Given the description of an element on the screen output the (x, y) to click on. 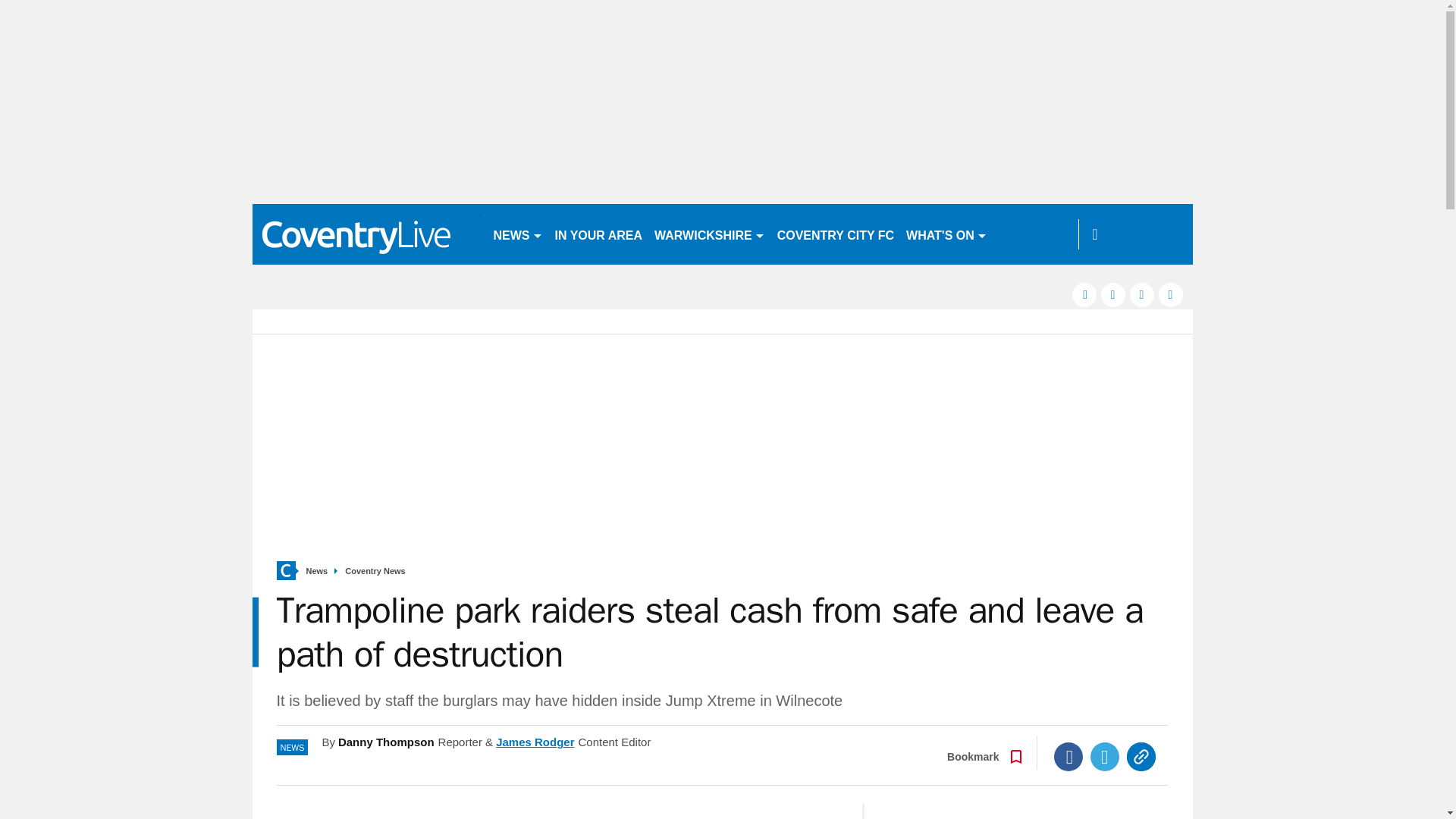
Facebook (1068, 756)
WARWICKSHIRE (709, 233)
coventrytelegraph (365, 233)
WHAT'S ON (945, 233)
Twitter (1104, 756)
facebook (1083, 294)
instagram (1170, 294)
COVENTRY CITY FC (835, 233)
IN YOUR AREA (598, 233)
WASPS RFC (1034, 233)
pinterest (1141, 294)
twitter (1112, 294)
NEWS (517, 233)
